Given the description of an element on the screen output the (x, y) to click on. 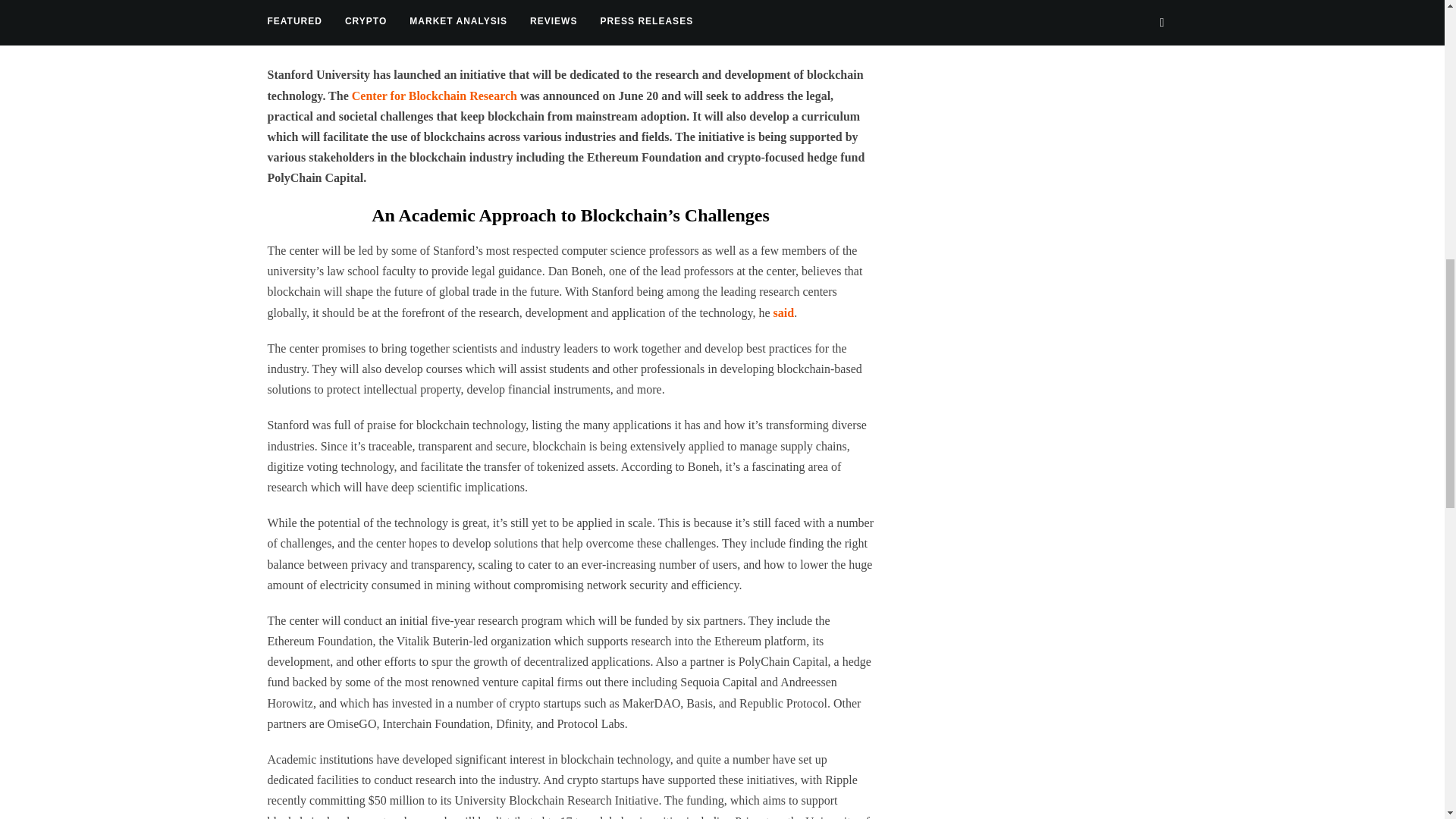
Posts by Steve Kaaru (351, 32)
Steve Kaaru (351, 32)
Center for Blockchain Research (434, 95)
said (783, 312)
